Given the description of an element on the screen output the (x, y) to click on. 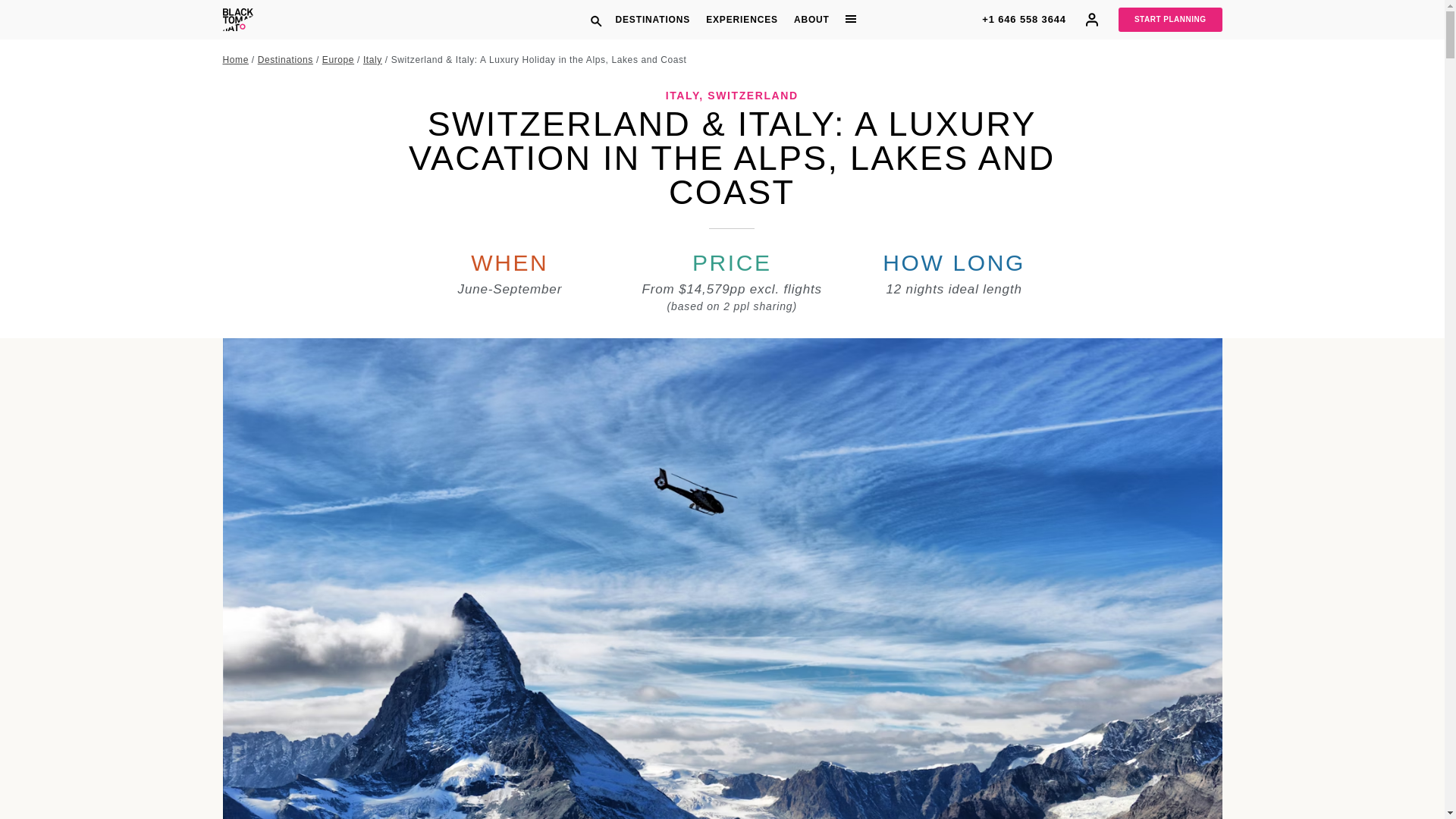
about (810, 19)
experiences (741, 19)
destinations (652, 19)
